Given the description of an element on the screen output the (x, y) to click on. 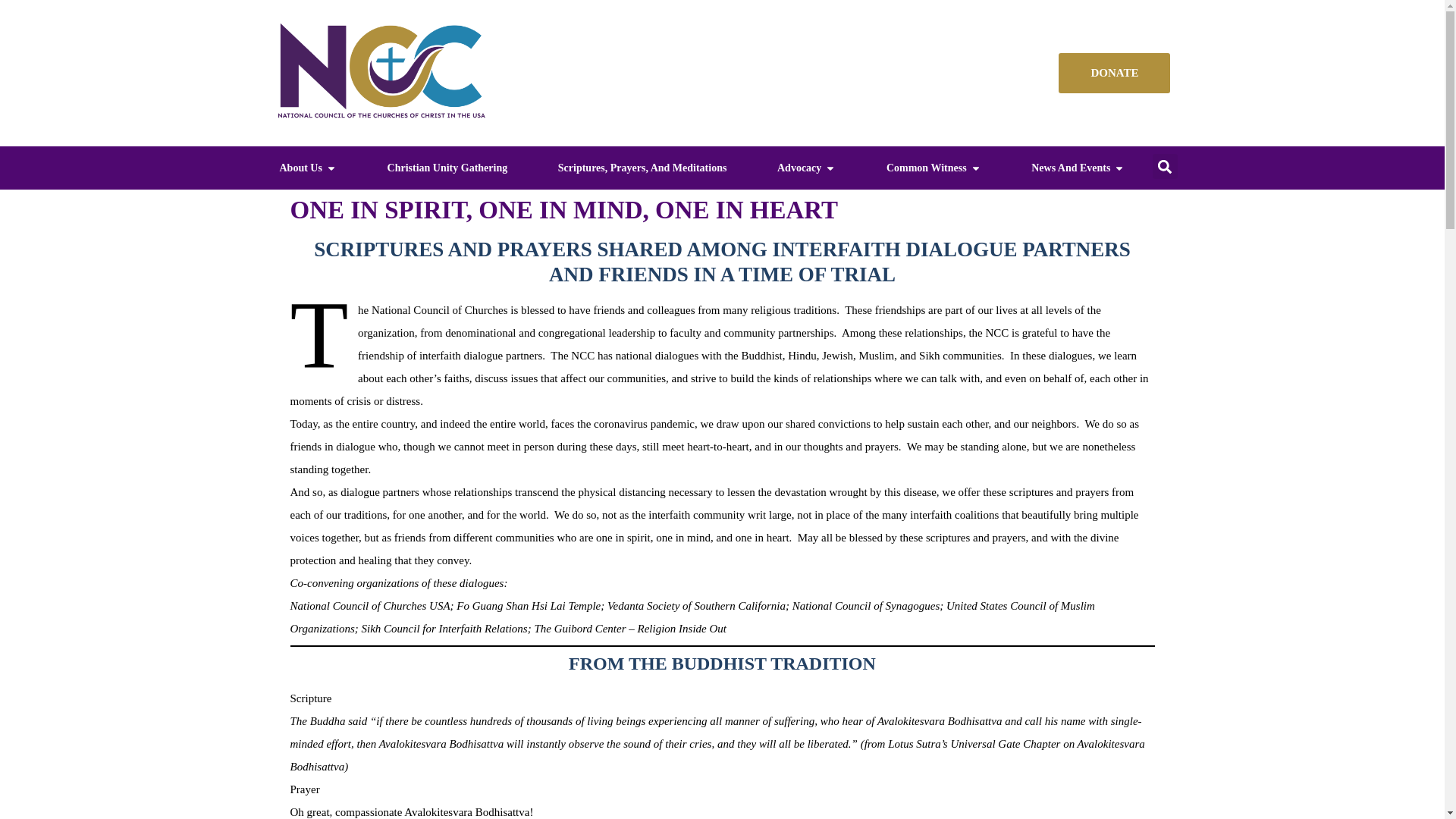
DONATE (1113, 73)
About Us (300, 167)
Christian Unity Gathering (447, 167)
Common Witness (926, 167)
Advocacy (799, 167)
Scriptures, Prayers, And Meditations (641, 167)
